Given the description of an element on the screen output the (x, y) to click on. 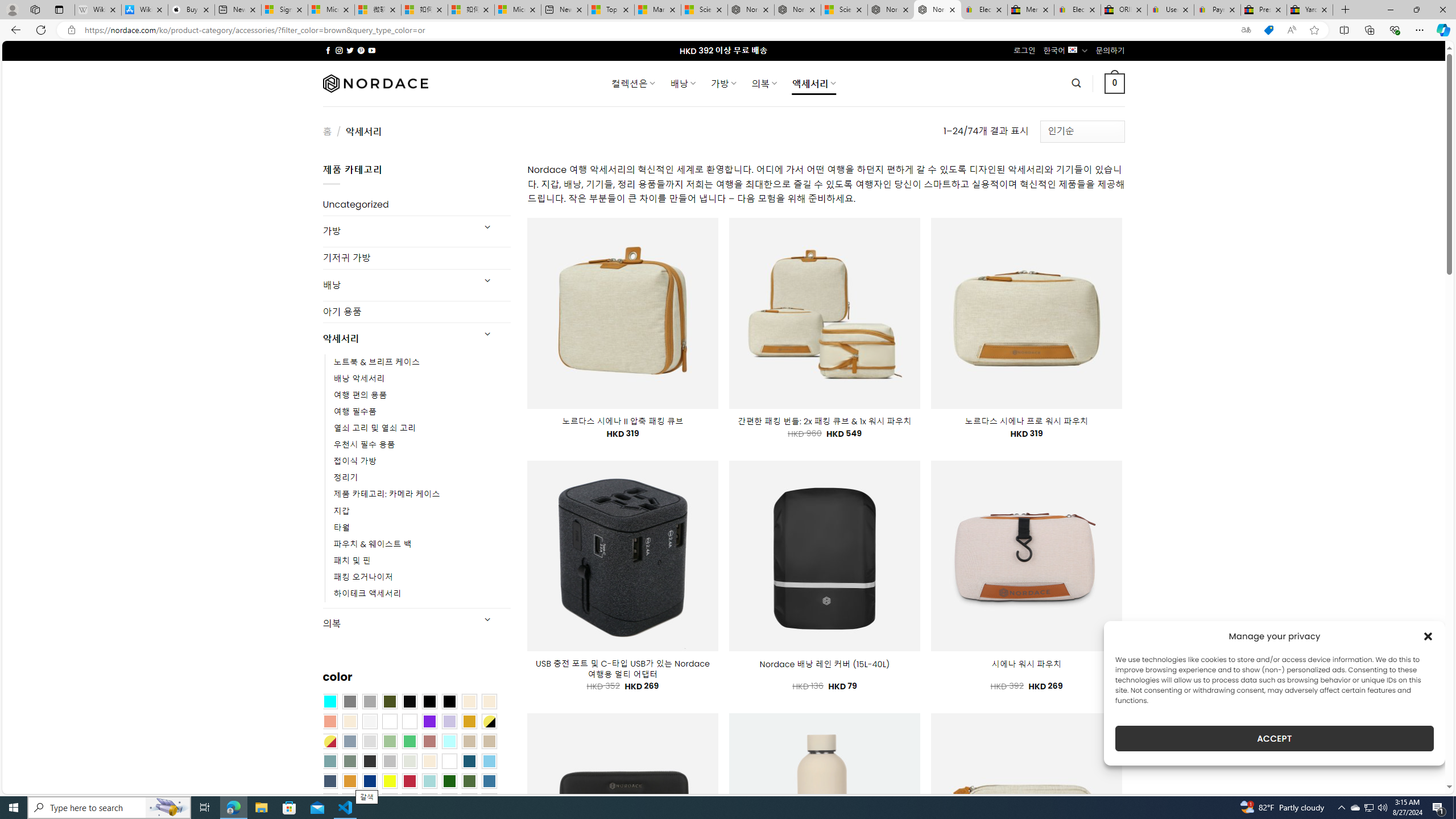
Follow on Pinterest (360, 50)
Show translate options (1245, 29)
Cream (349, 721)
